Given the description of an element on the screen output the (x, y) to click on. 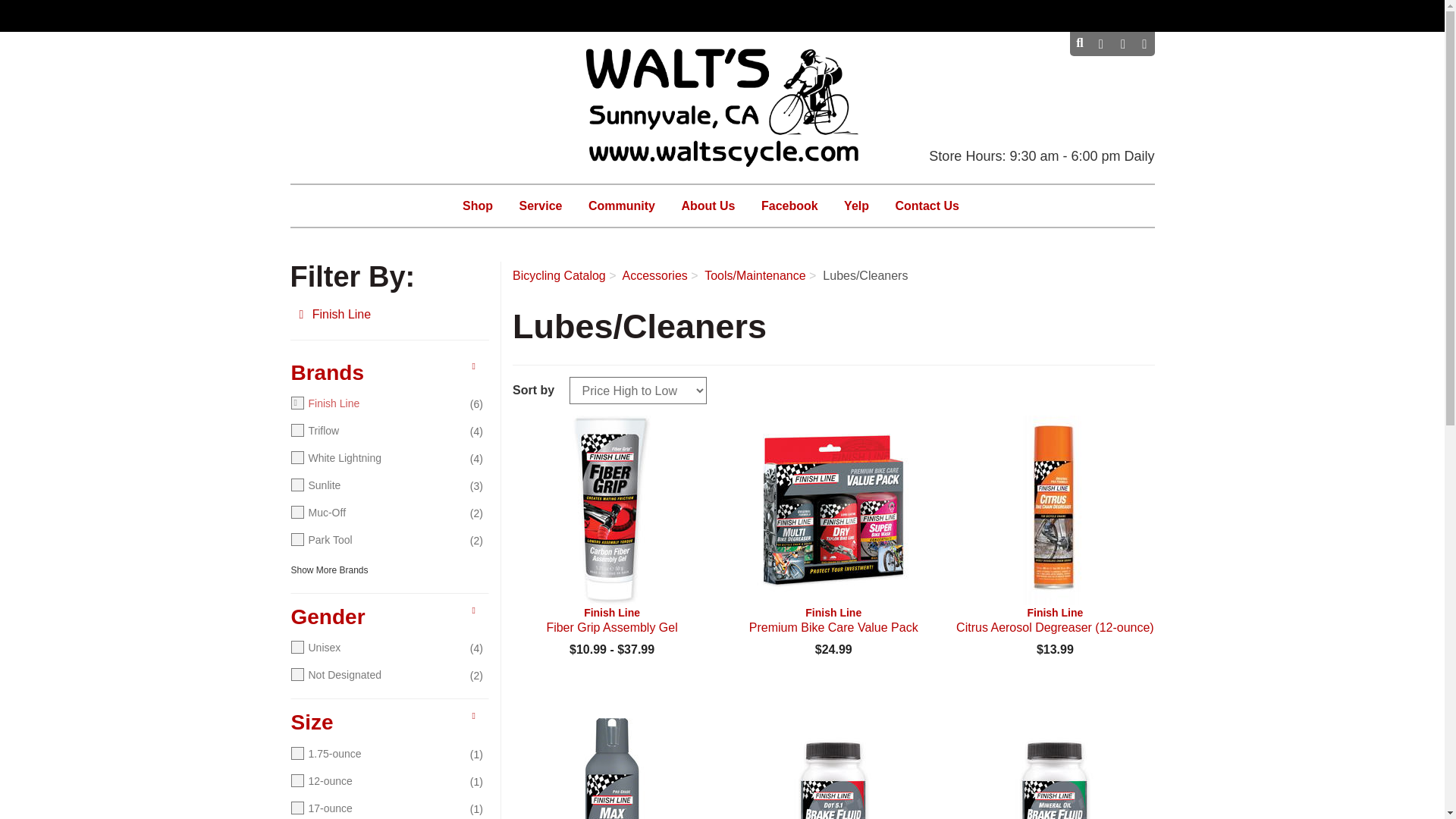
Stores (1121, 43)
Finish Line Premium Bike Care Value Pack (1121, 43)
Finish Line Fiber Grip Assembly Gel (833, 620)
Cart (611, 510)
Account (1143, 43)
Finish Line Premium Bike Care Value Pack (1099, 43)
Shop (1099, 43)
